Given the description of an element on the screen output the (x, y) to click on. 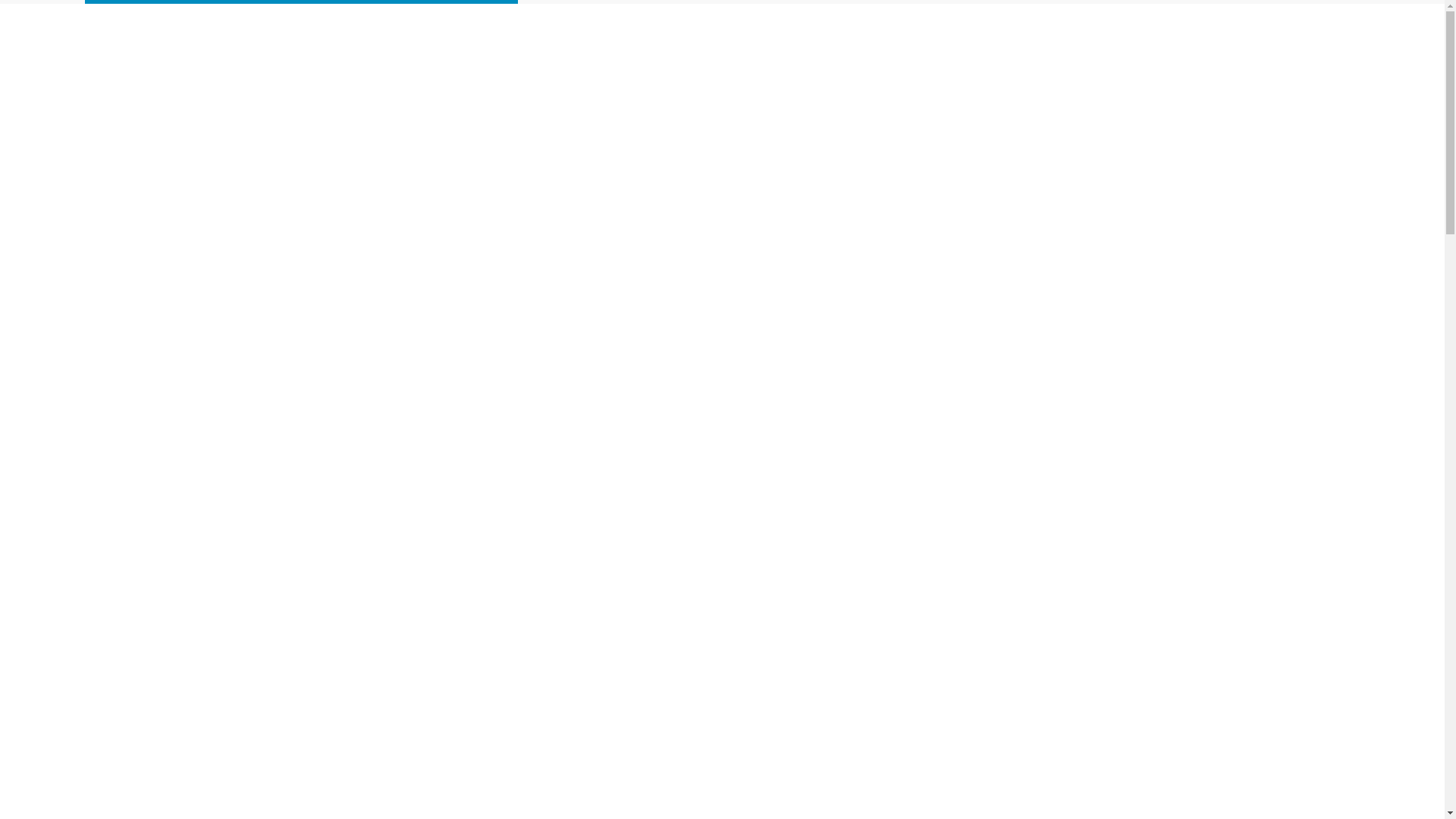
The Best Expert Tub Refinishers Element type: text (457, 112)
Request a Quote Element type: text (1123, 112)
About Element type: text (567, 112)
Blackstone Refinishing Element type: text (313, 171)
Reviews Element type: text (884, 112)
Here Is The Contact Page Element type: text (983, 112)
Search Element type: text (12, 12)
Services Element type: text (627, 112)
Tub Advice Here In The Help Section Element type: text (758, 112)
